Given the description of an element on the screen output the (x, y) to click on. 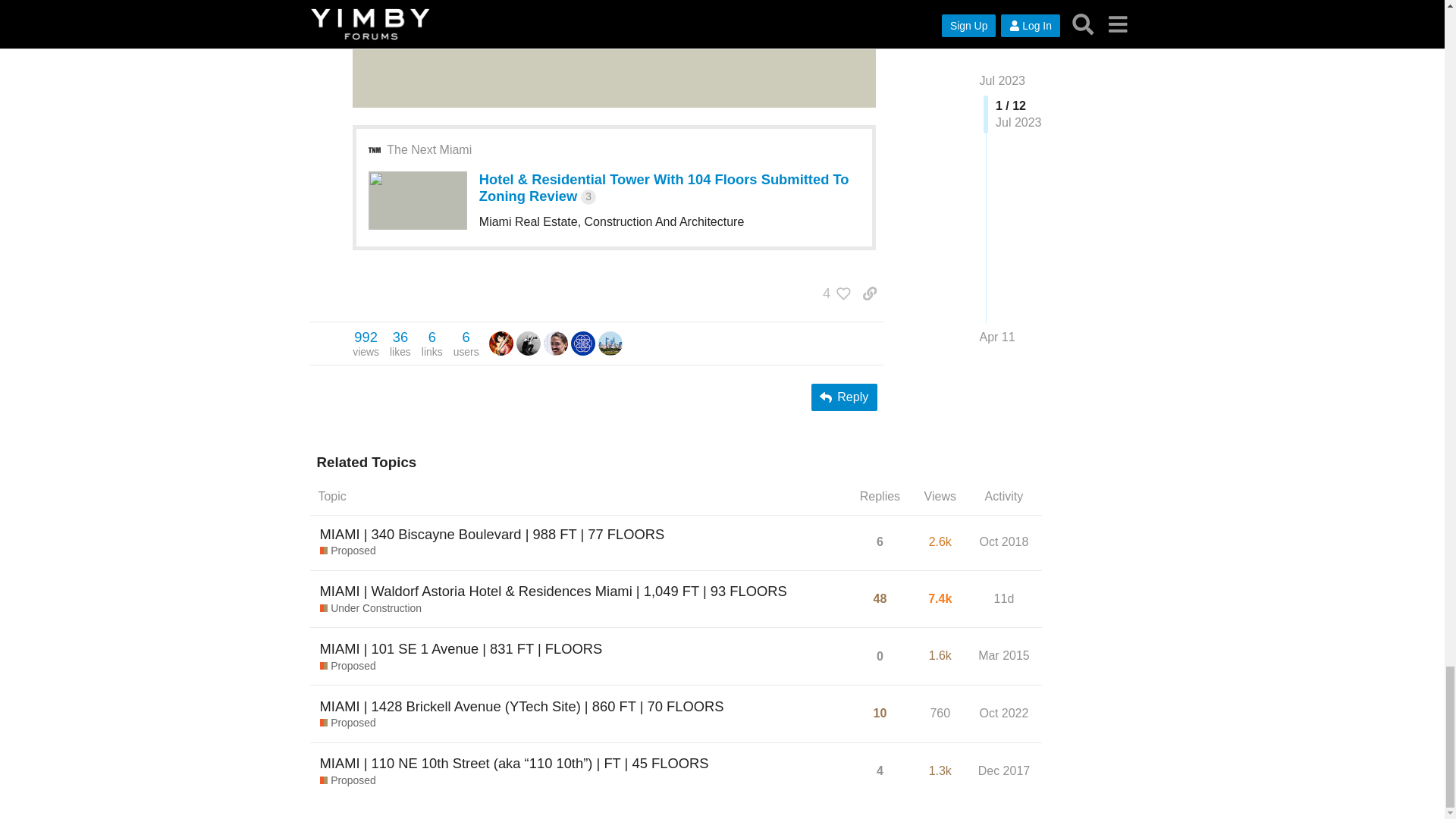
Mackensen (501, 341)
Emil Atik (582, 343)
TK2000 (610, 341)
paperx9999 (555, 341)
Oscar  (528, 343)
Mulan (501, 343)
paperx9999 (366, 343)
Ecopolisia (555, 343)
